Given the description of an element on the screen output the (x, y) to click on. 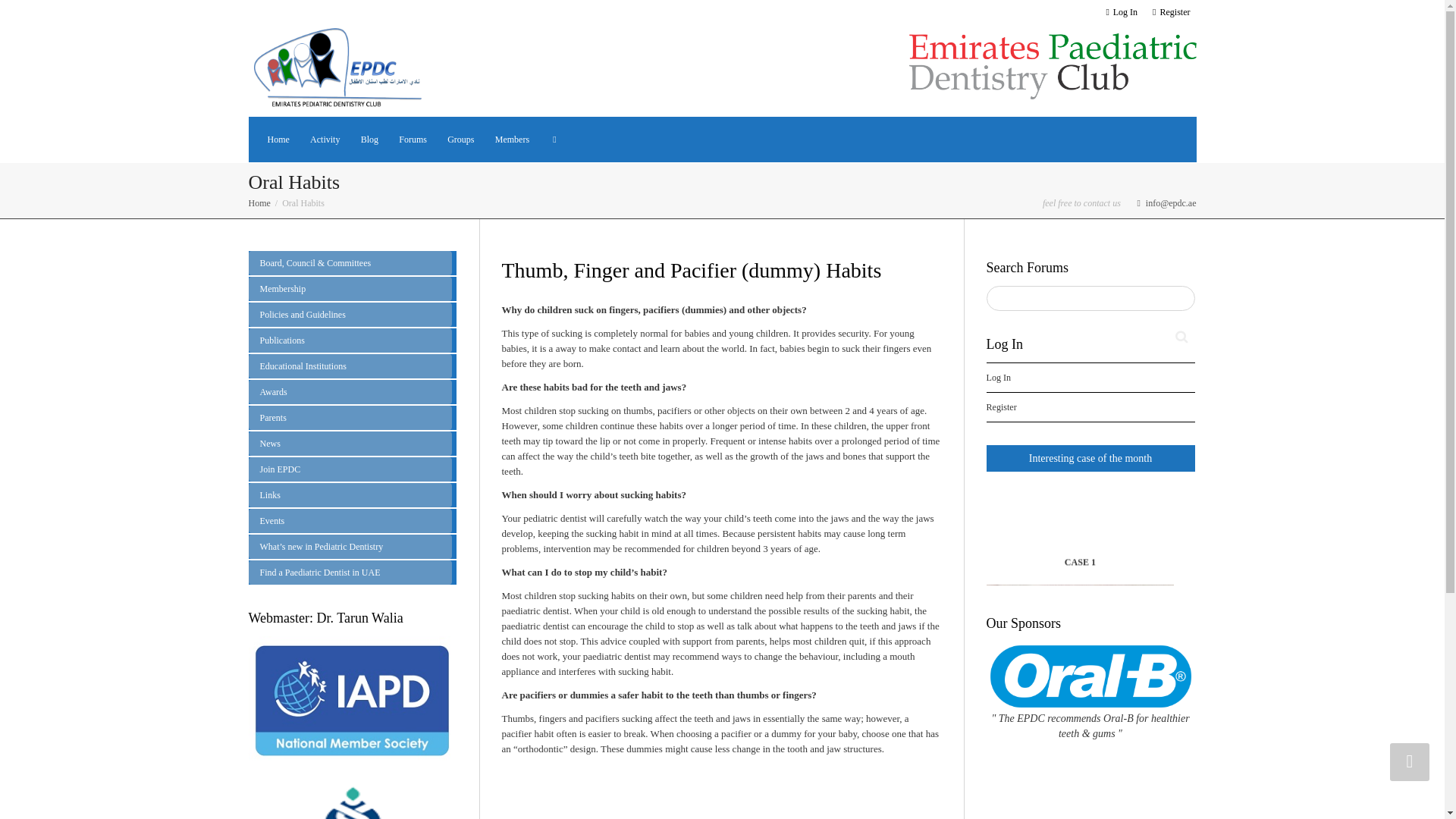
Home (277, 139)
EPDC (340, 66)
Register (1171, 12)
Members (512, 139)
Forums (412, 139)
Activity (324, 139)
Activity (324, 139)
Parents (349, 417)
Search (1181, 336)
Blog (369, 139)
Members (512, 139)
Forums (412, 139)
Log In (1121, 12)
Home (277, 139)
Publications (349, 340)
